Given the description of an element on the screen output the (x, y) to click on. 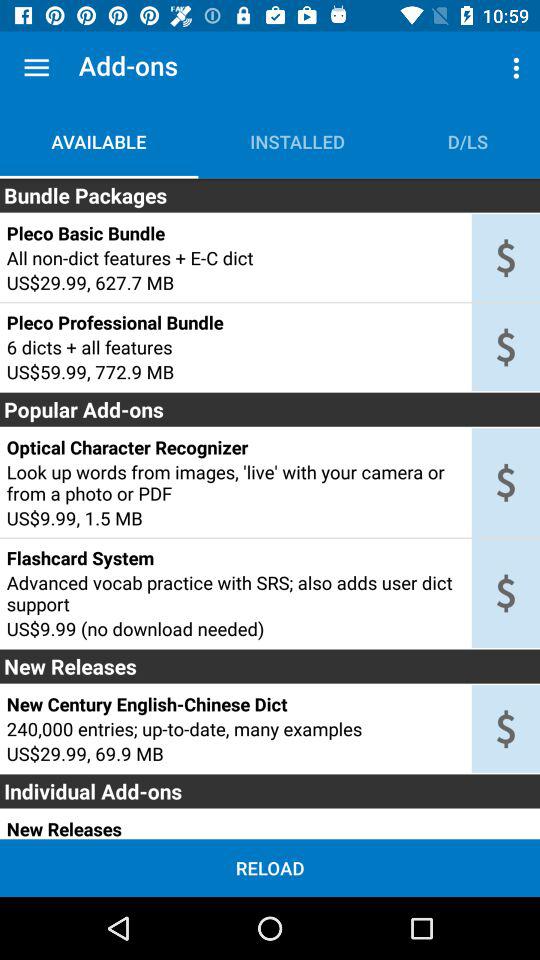
turn off flashcard system item (235, 557)
